Given the description of an element on the screen output the (x, y) to click on. 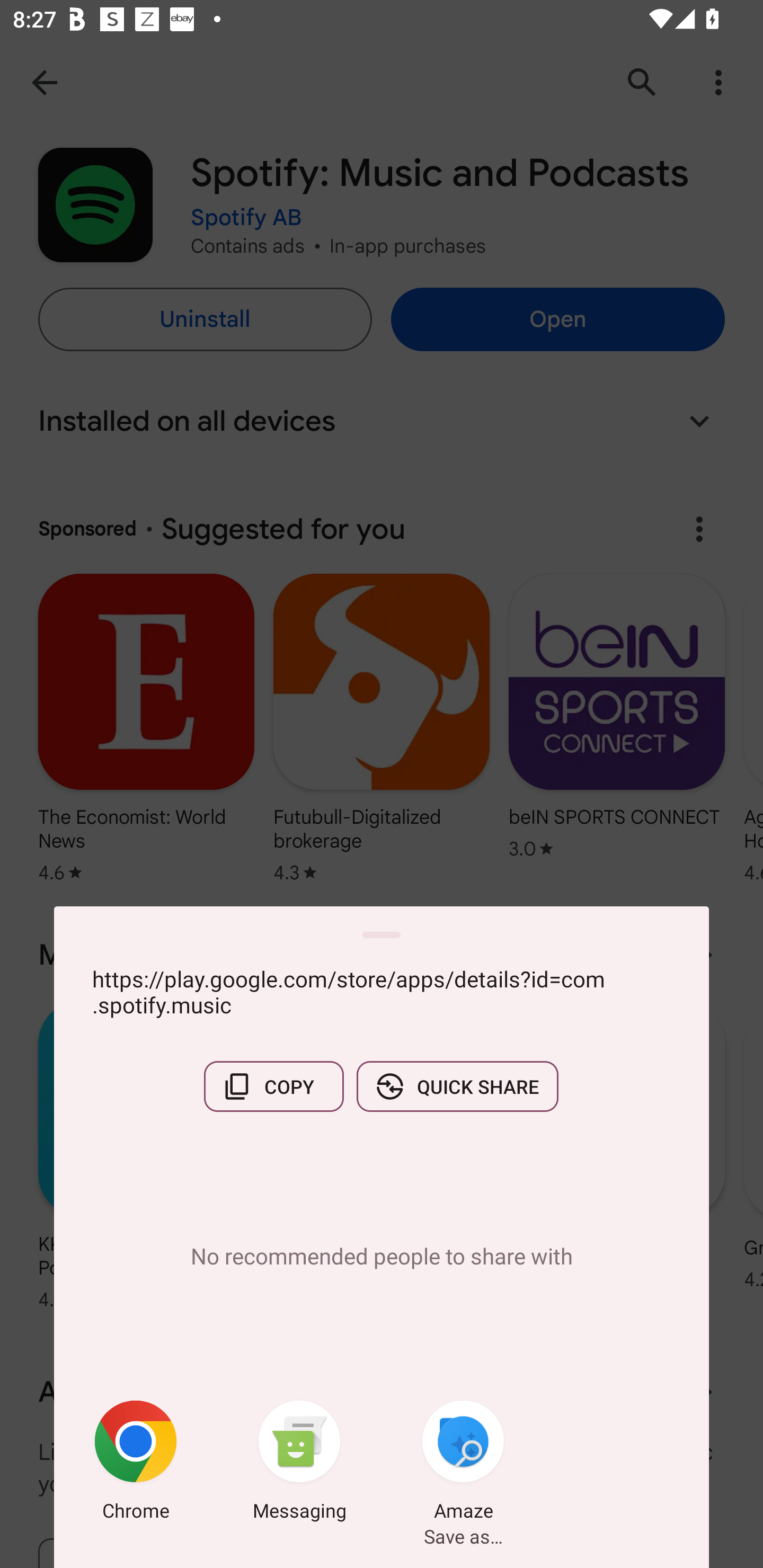
COPY (273, 1086)
QUICK SHARE (457, 1086)
Chrome (135, 1463)
Messaging (299, 1463)
Amaze Save as… (463, 1463)
